Given the description of an element on the screen output the (x, y) to click on. 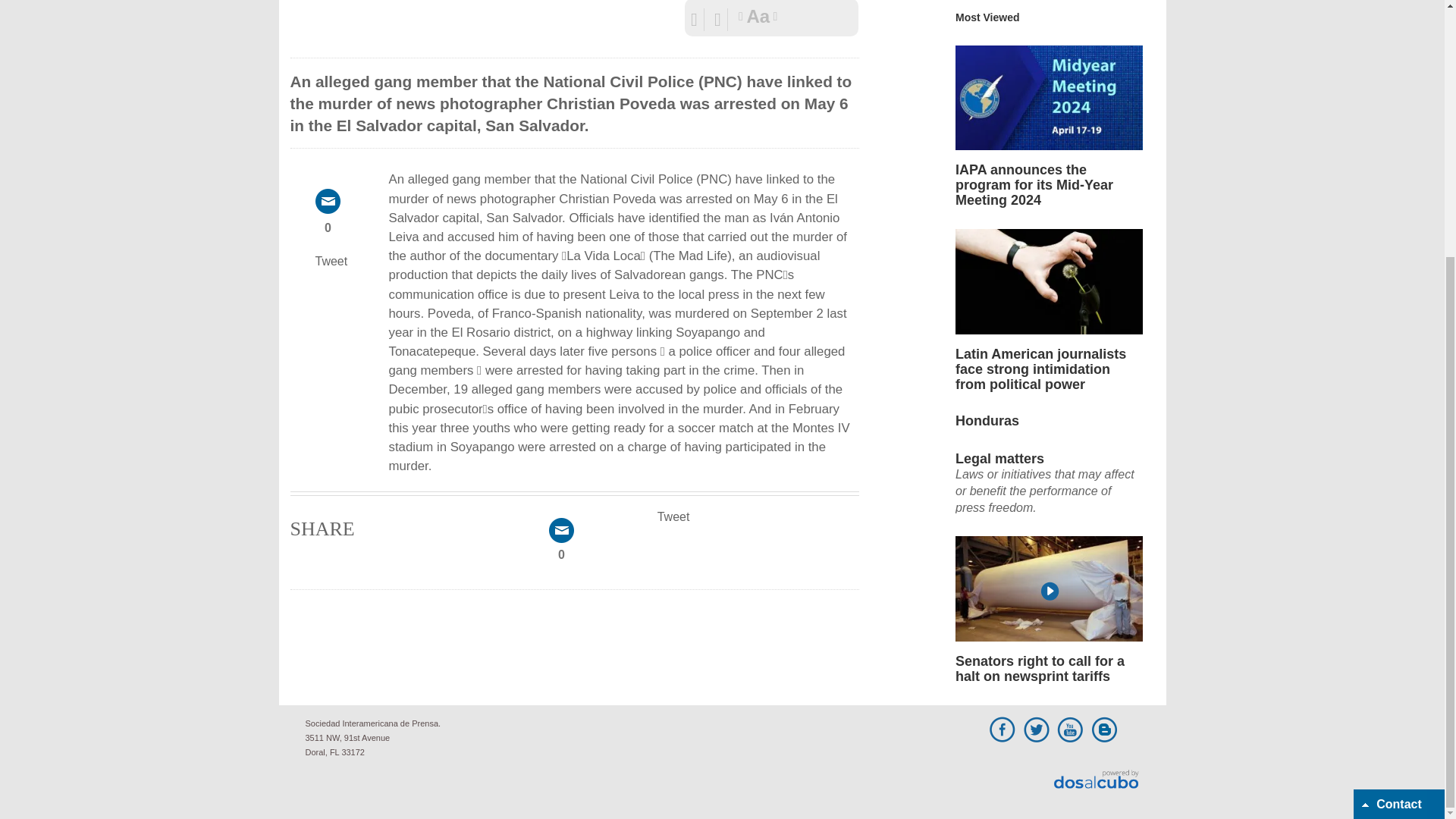
IAPA announces the program for its Mid-Year Meeting 2024 (1048, 97)
IAPA announces the program for its Mid-Year Meeting 2024 (1048, 51)
Senators right to call for a halt on newsprint tariffs (1048, 543)
